Given the description of an element on the screen output the (x, y) to click on. 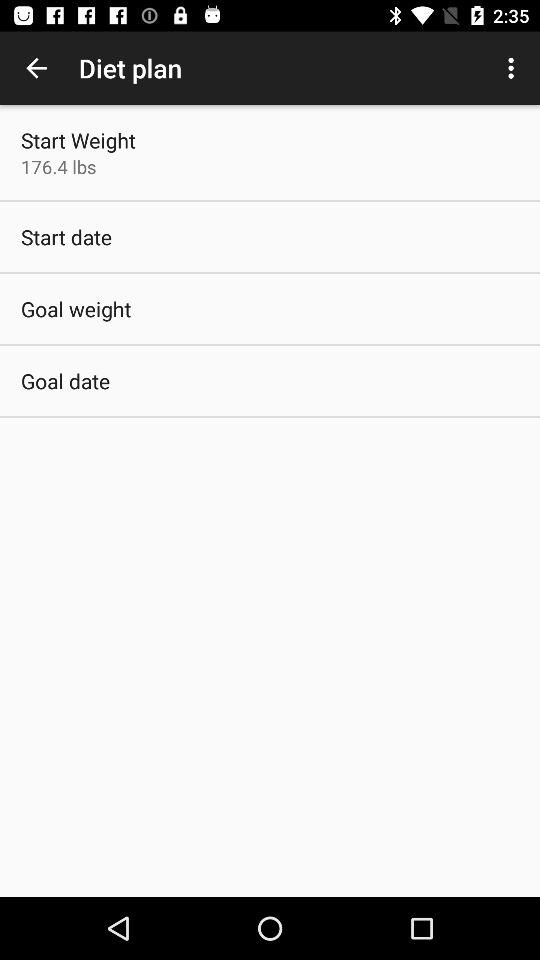
press icon next to the diet plan item (513, 67)
